Given the description of an element on the screen output the (x, y) to click on. 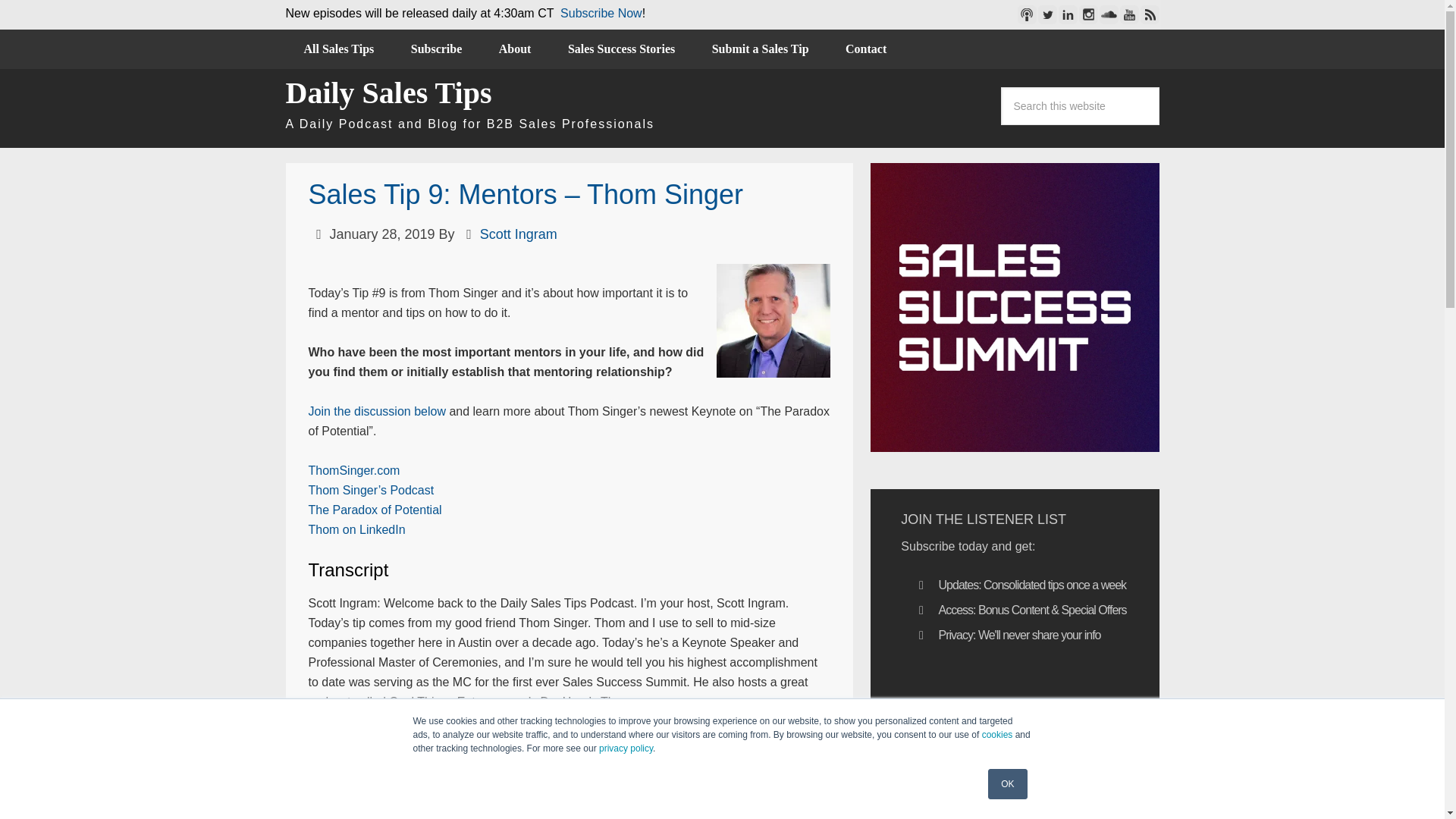
Join the discussion below (376, 410)
Subscribe Now (601, 12)
About (515, 48)
Daily Sales Tips (388, 92)
The Paradox of Potential (374, 509)
Subscribe (436, 48)
OK (1007, 784)
privacy policy (625, 747)
cookies (997, 734)
All Sales Tips (338, 48)
Contact (865, 48)
Sales Success Stories (621, 48)
Thom on LinkedIn (355, 529)
Form 0 (1014, 740)
ThomSinger.com (352, 470)
